Given the description of an element on the screen output the (x, y) to click on. 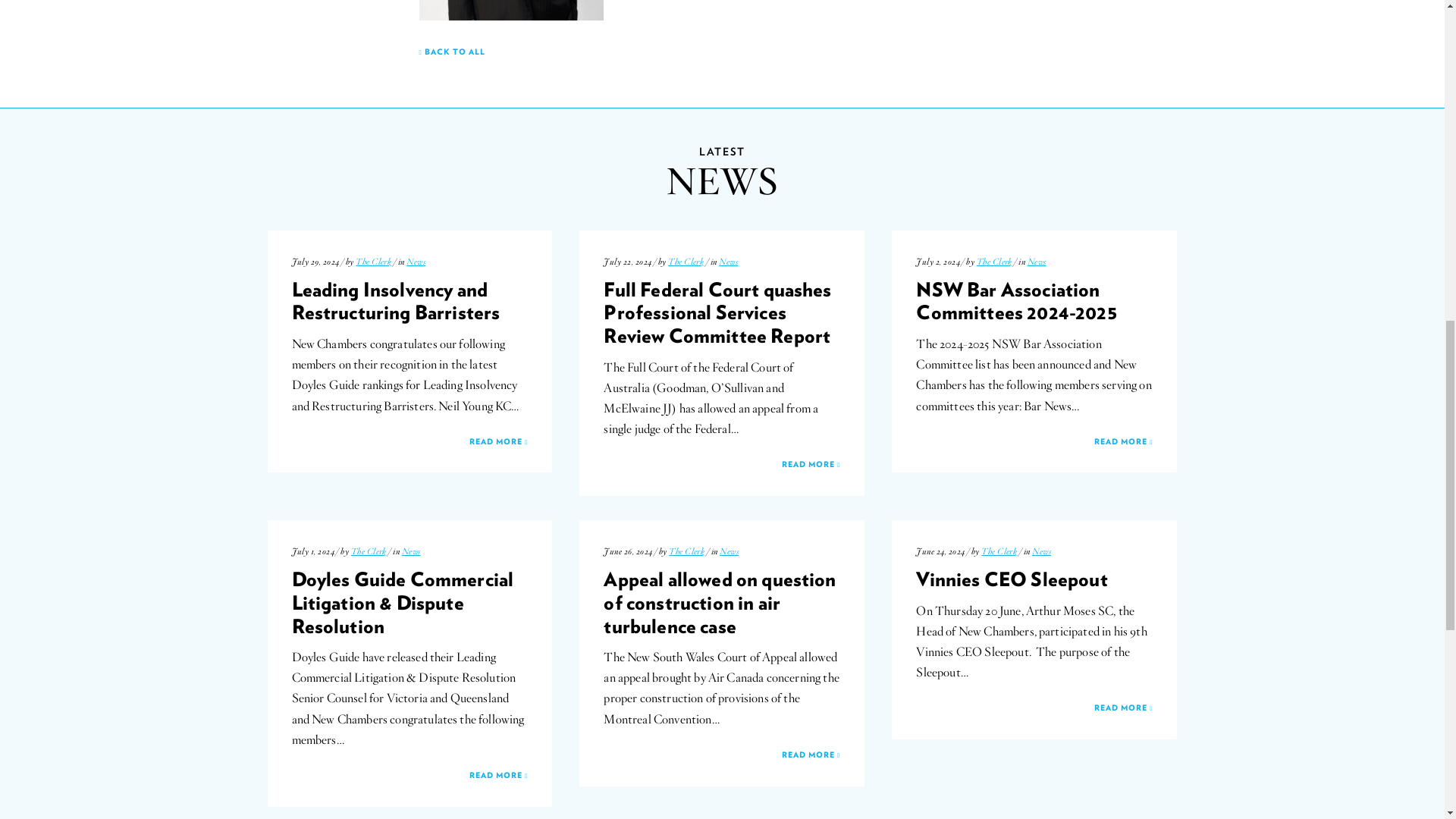
News (415, 261)
READ MORE (722, 464)
READ MORE (409, 441)
News (410, 551)
News (1036, 261)
The Clerk (993, 261)
News (728, 261)
READ MORE (1034, 441)
The Clerk (685, 261)
READ MORE (409, 775)
